Given the description of an element on the screen output the (x, y) to click on. 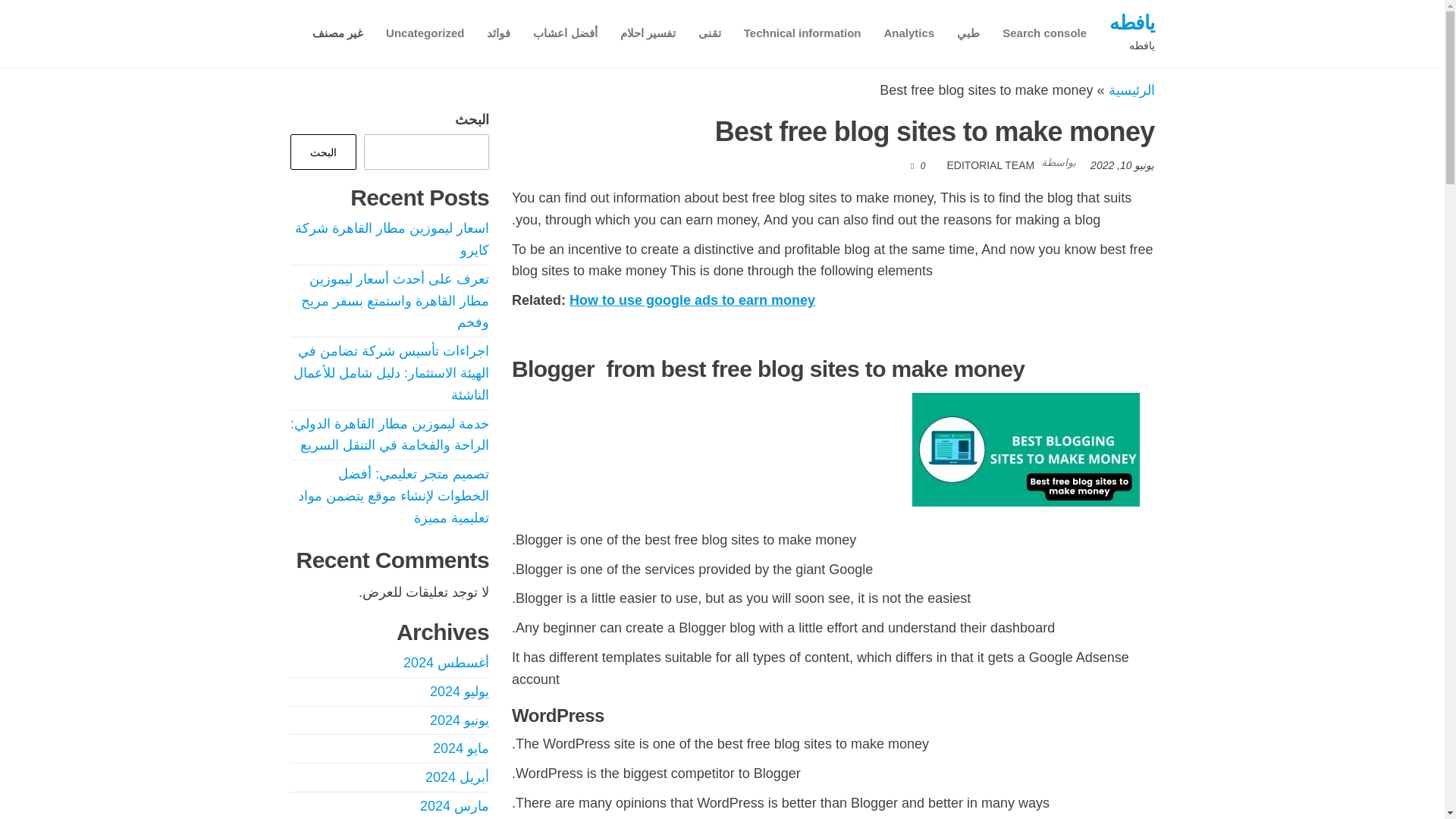
Analytics (908, 33)
Technical information (802, 33)
Search console (1044, 33)
How to use google ads to earn money (692, 299)
Uncategorized (425, 33)
Technical information (802, 33)
EDITORIAL TEAM (991, 164)
Uncategorized (425, 33)
Analytics (908, 33)
Search console (1044, 33)
